Given the description of an element on the screen output the (x, y) to click on. 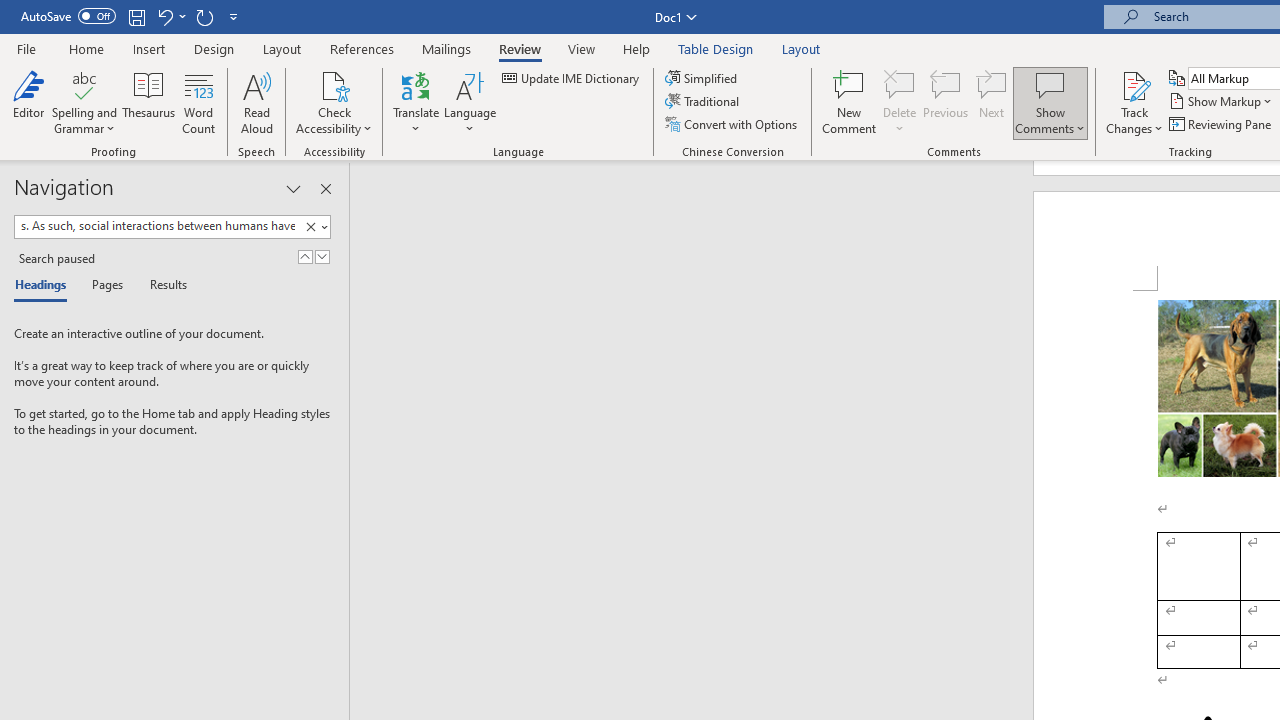
Previous Result (304, 256)
Undo Style (170, 15)
Spelling and Grammar (84, 102)
Next Result (322, 256)
Reviewing Pane (1221, 124)
Check Accessibility (334, 84)
Convert with Options... (732, 124)
Check Accessibility (334, 102)
